Given the description of an element on the screen output the (x, y) to click on. 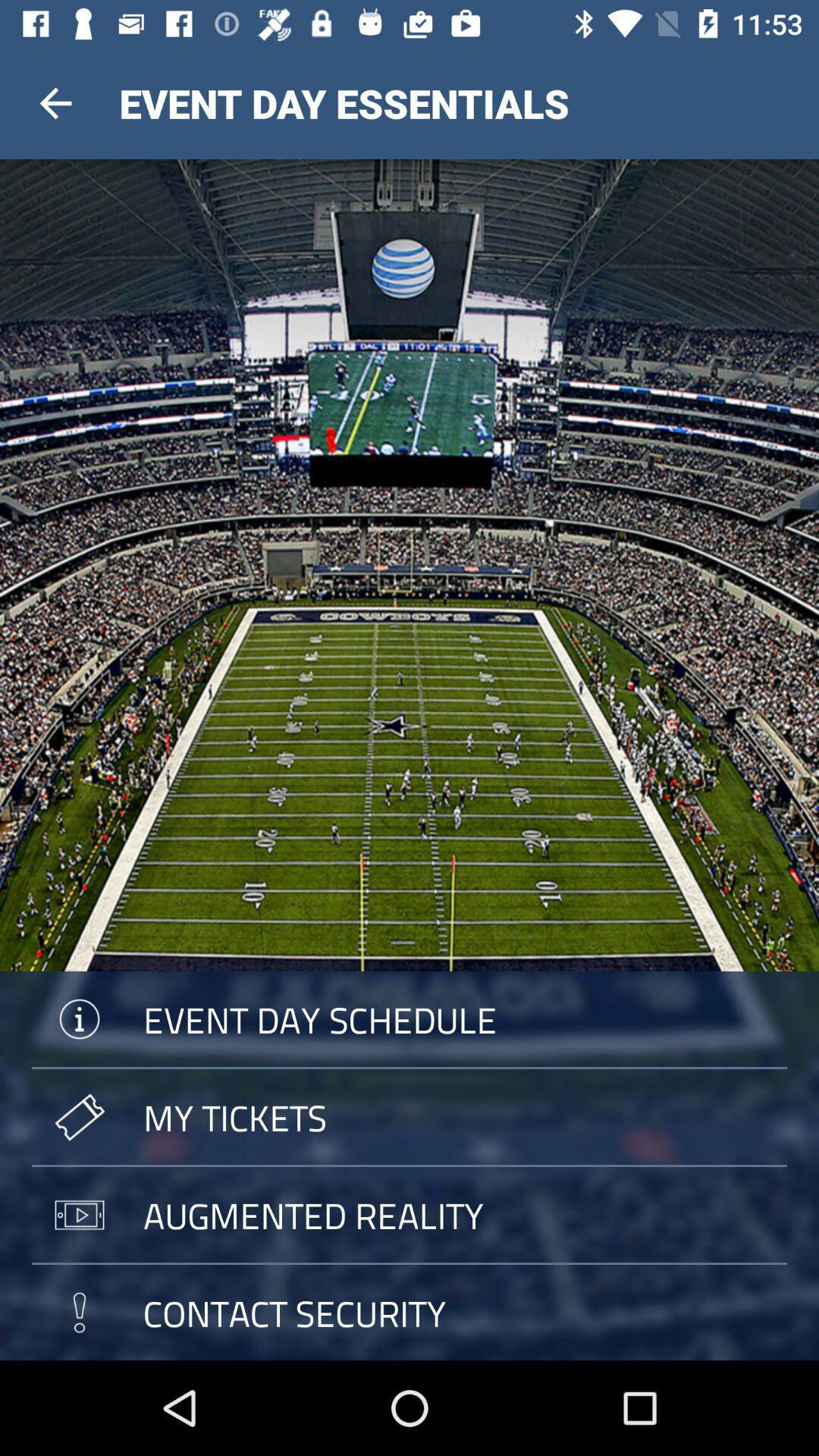
flip to contact security item (409, 1312)
